Given the description of an element on the screen output the (x, y) to click on. 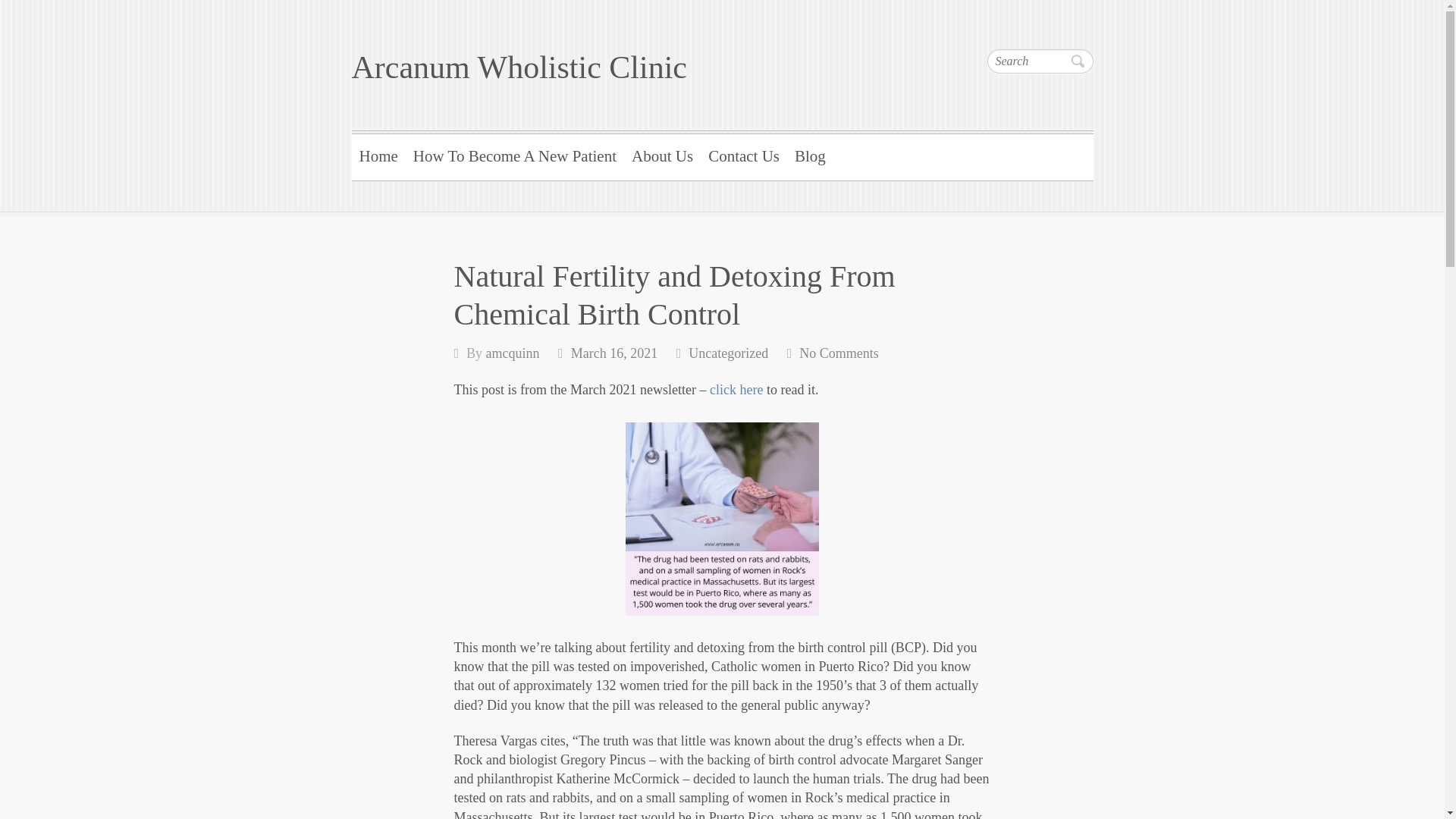
Blog (809, 155)
Arcanum Wholistic Clinic (519, 67)
March 16, 2021 (614, 353)
click here (736, 389)
Uncategorized (728, 353)
9:00 pm (614, 353)
Home (379, 155)
How To Become A New Patient (515, 155)
Arcanum Wholistic Clinic (519, 67)
About Us (662, 155)
